Given the description of an element on the screen output the (x, y) to click on. 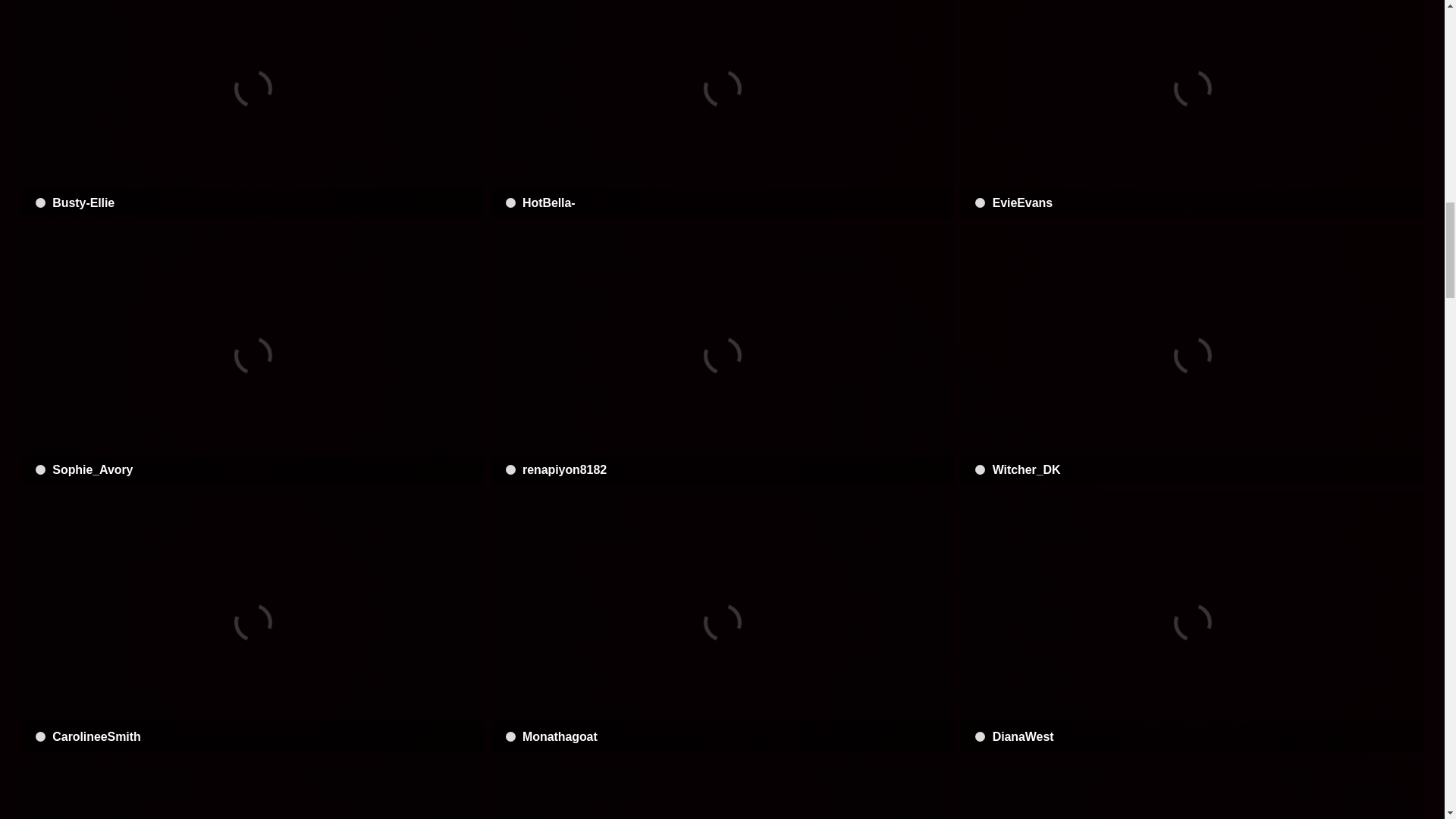
Busty-Ellie (252, 109)
EvieEvans (1191, 109)
CarolineeSmith (252, 621)
HotBella- (722, 109)
renapiyon8182 (722, 354)
